Given the description of an element on the screen output the (x, y) to click on. 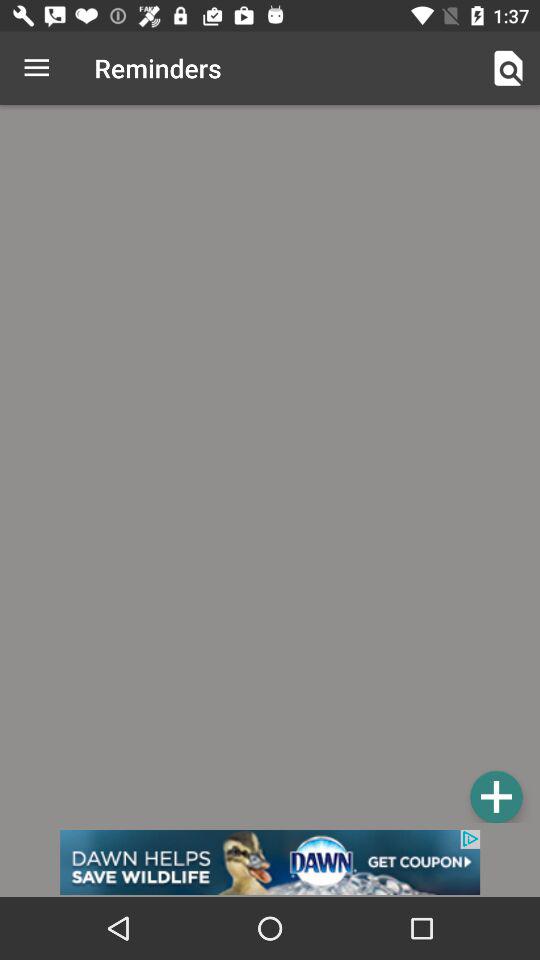
add reminder (269, 467)
